Given the description of an element on the screen output the (x, y) to click on. 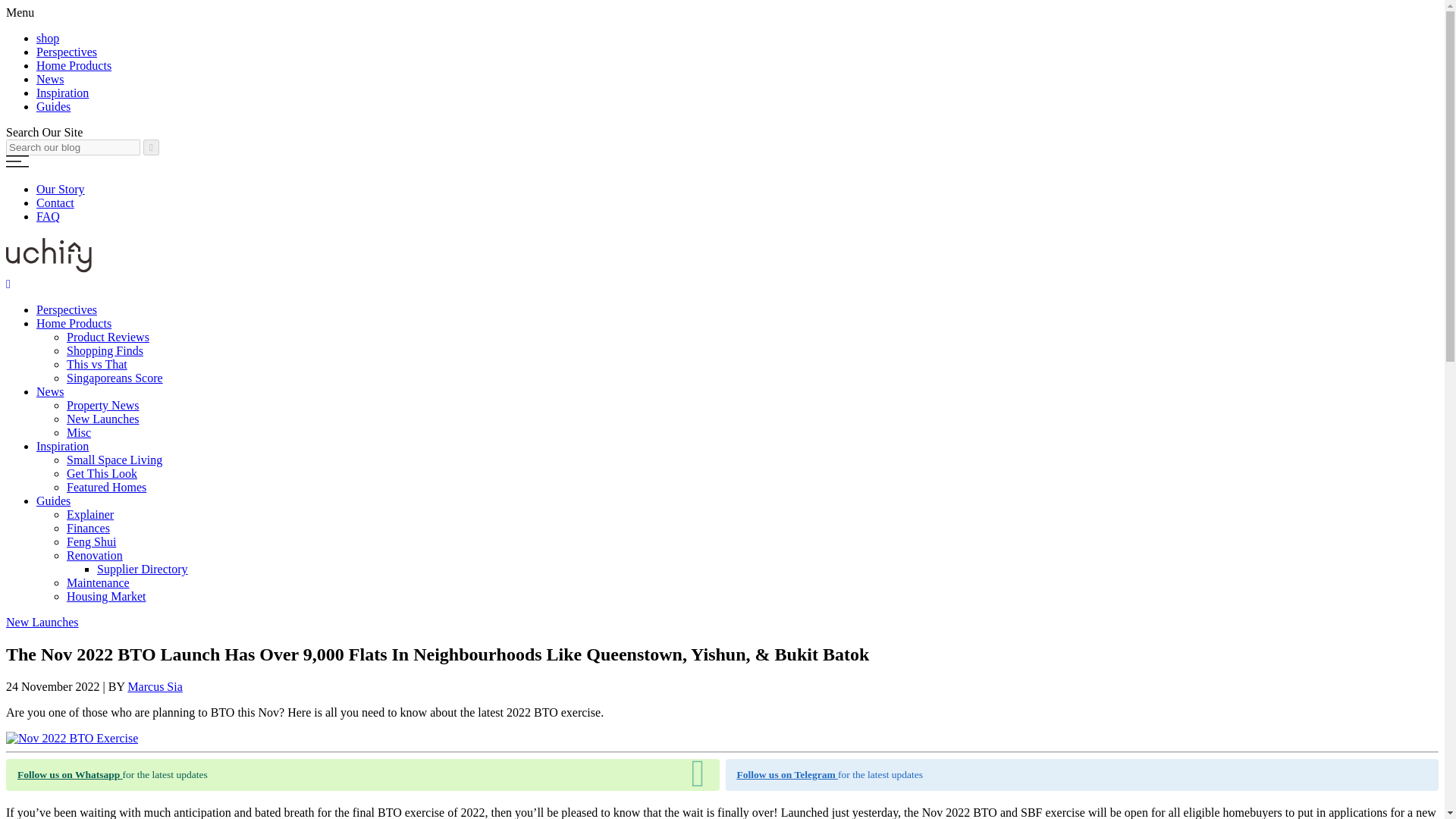
News (50, 391)
Home Products (74, 65)
New Launches (102, 418)
Product Reviews (107, 336)
Our Story (60, 188)
View all posts in New Launches (41, 621)
Contact (55, 202)
shop (47, 38)
Posts by Marcus Sia (155, 686)
Property News (102, 404)
Inspiration (62, 92)
Guides (52, 106)
Misc (78, 431)
Shopping Finds (104, 350)
Perspectives (66, 309)
